Given the description of an element on the screen output the (x, y) to click on. 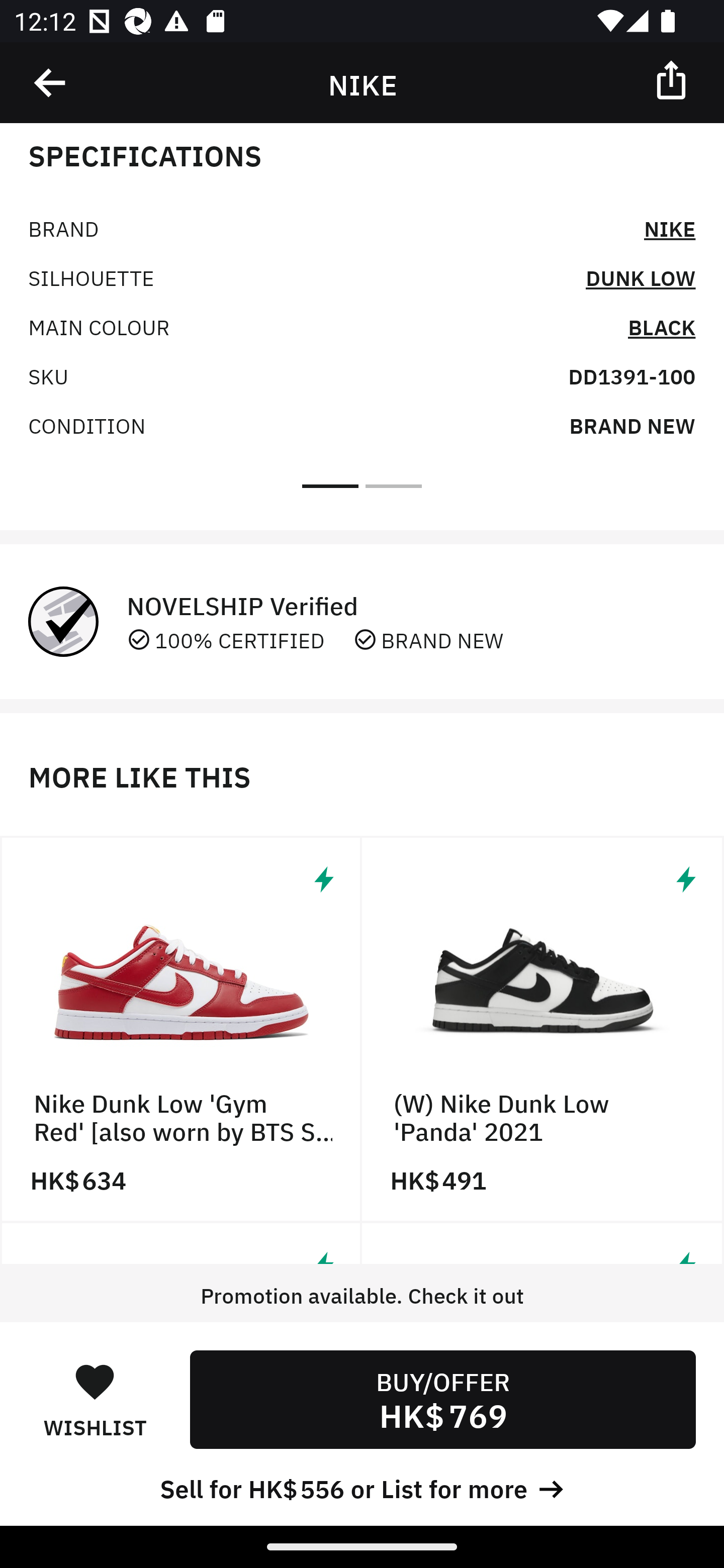
 (50, 83)
 (672, 79)
NIKE (669, 227)
DUNK LOW (640, 276)
BLACK (661, 325)
DD1391-100 (631, 375)
BRAND NEW (632, 424)
 (W) Nike Dunk Low 'Panda' 2021 HK$ 491 (543, 1029)
BUY/OFFER HK$ 769 (442, 1399)
󰋑 (94, 1380)
Sell for HK$ 556 or List for more (361, 1486)
